Given the description of an element on the screen output the (x, y) to click on. 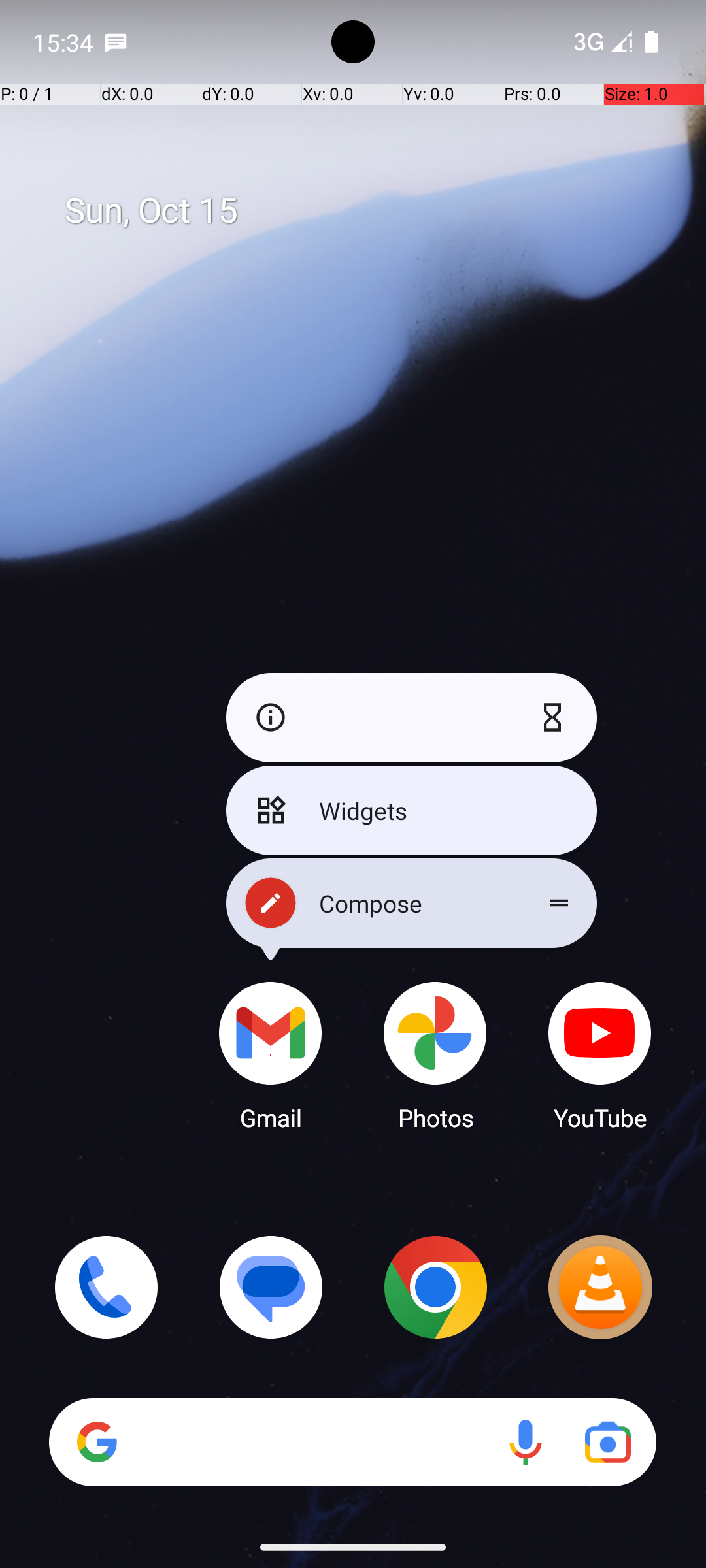
App info Element type: android.widget.ImageView (267, 717)
Pause app Element type: android.widget.ImageView (555, 717)
Compose Element type: android.widget.TextView (411, 902)
Widgets Element type: android.widget.TextView (411, 810)
